Given the description of an element on the screen output the (x, y) to click on. 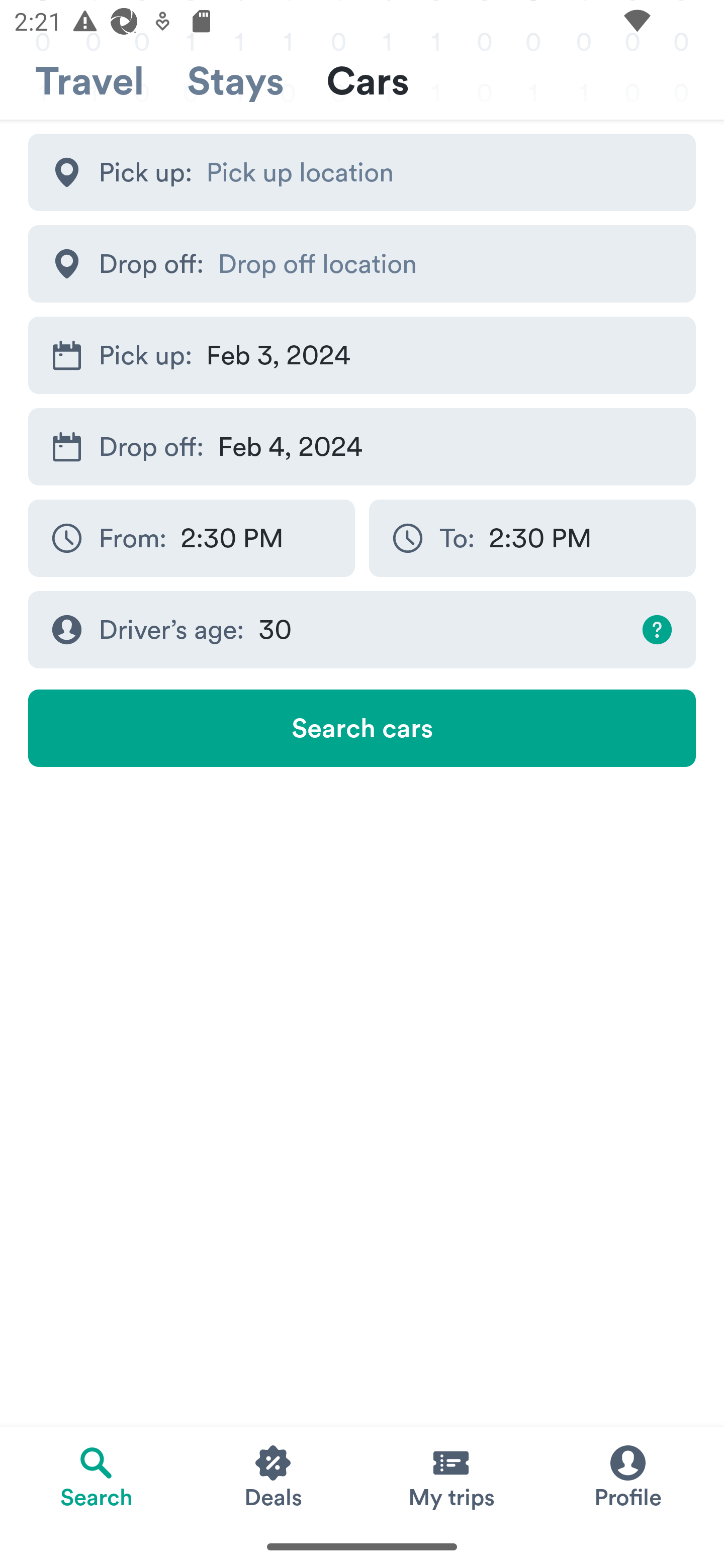
Travel (89, 81)
Stays (235, 81)
Cars (367, 81)
Pick up: (361, 172)
Drop off: (361, 263)
Pick up: Feb 3, 2024 (361, 355)
Drop off: Feb 4, 2024 (361, 446)
From: 2:30 PM (191, 537)
To: 2:30 PM (532, 537)
Driver’s age: 30 (361, 630)
Search cars (361, 727)
Deals (273, 1475)
My trips (450, 1475)
Profile (627, 1475)
